Given the description of an element on the screen output the (x, y) to click on. 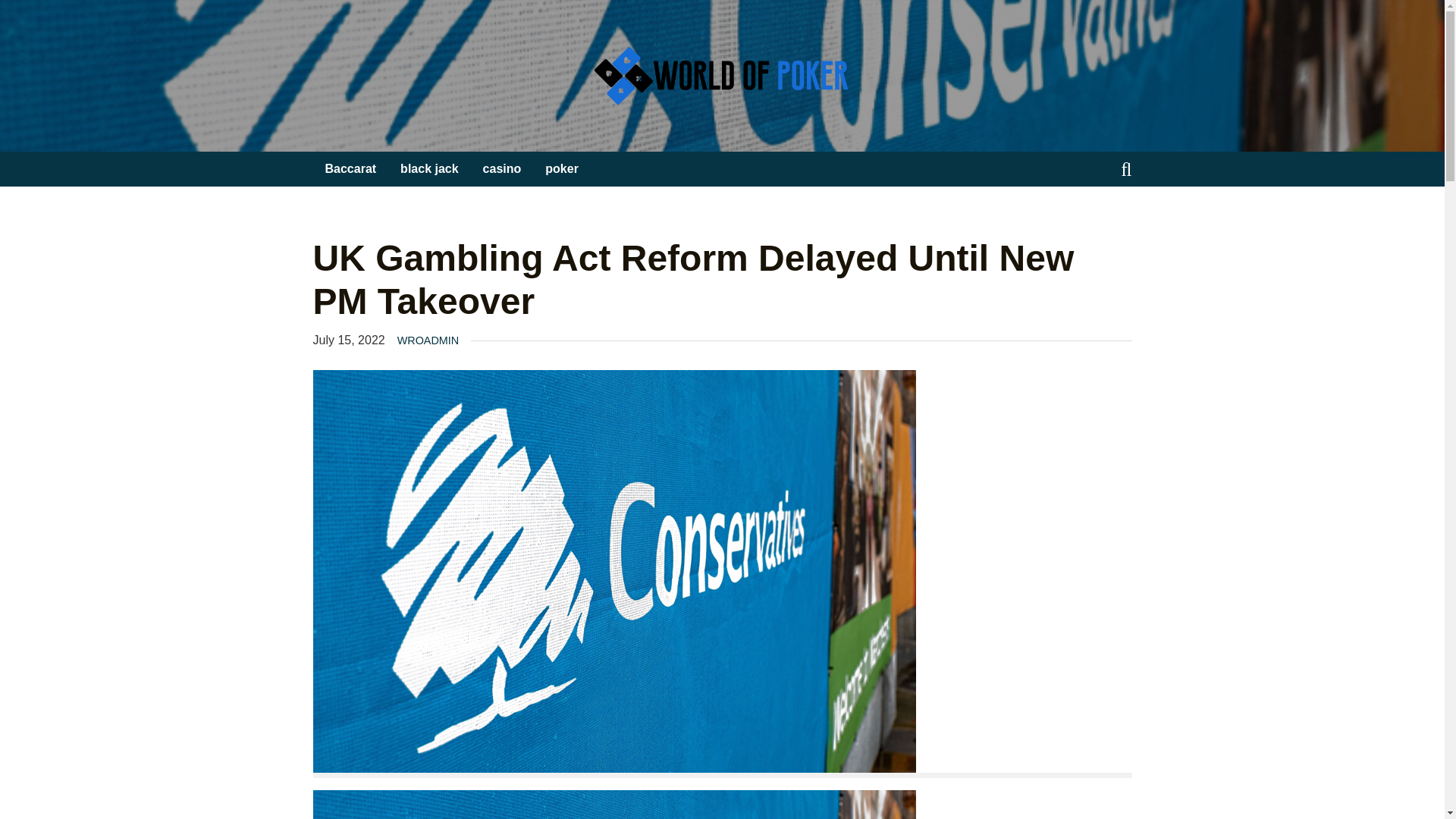
Search (37, 13)
WROADMIN (428, 340)
Baccarat (350, 169)
casino (502, 169)
poker (561, 169)
black jack (429, 169)
